Given the description of an element on the screen output the (x, y) to click on. 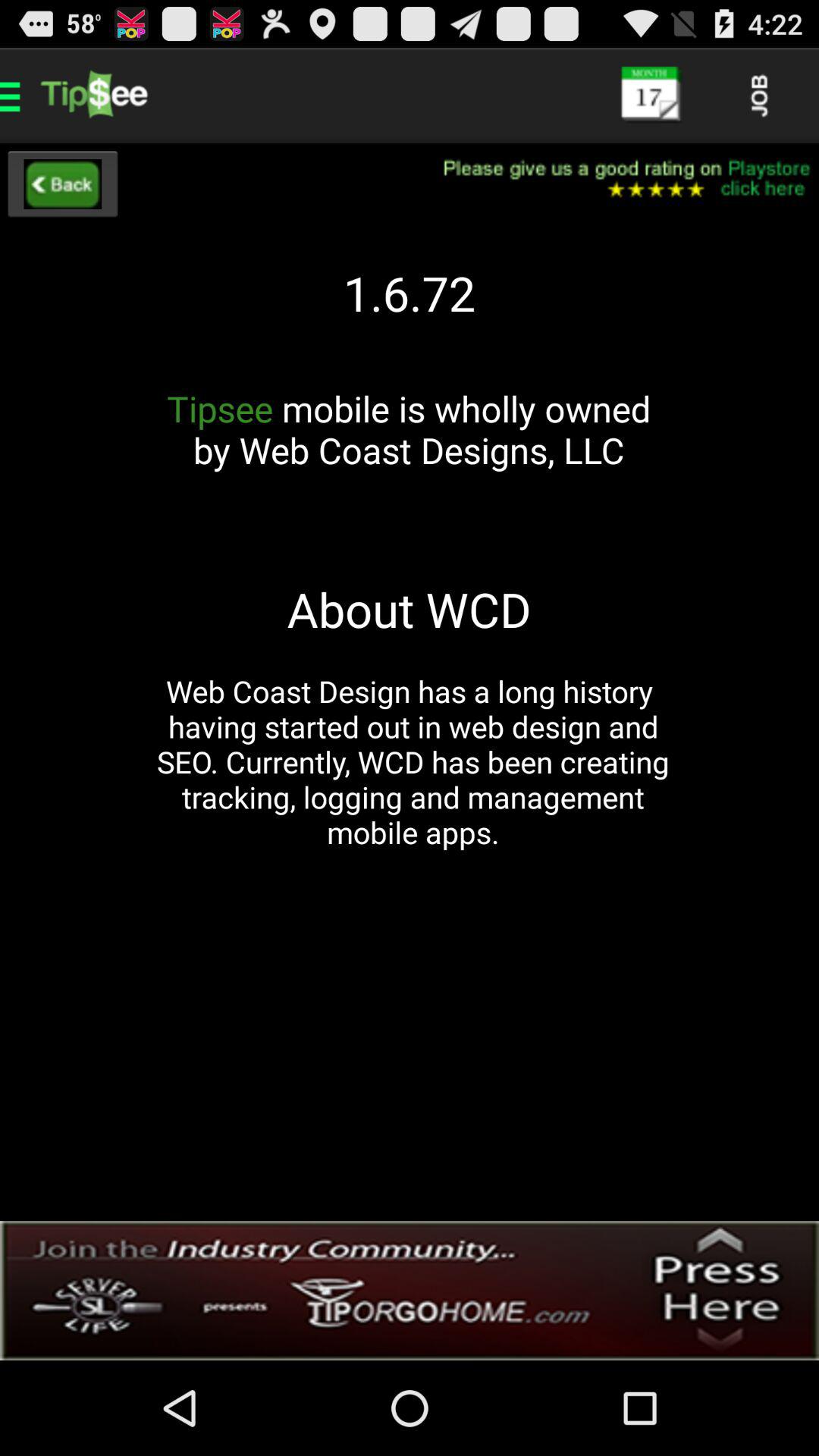
rate app (616, 178)
